Given the description of an element on the screen output the (x, y) to click on. 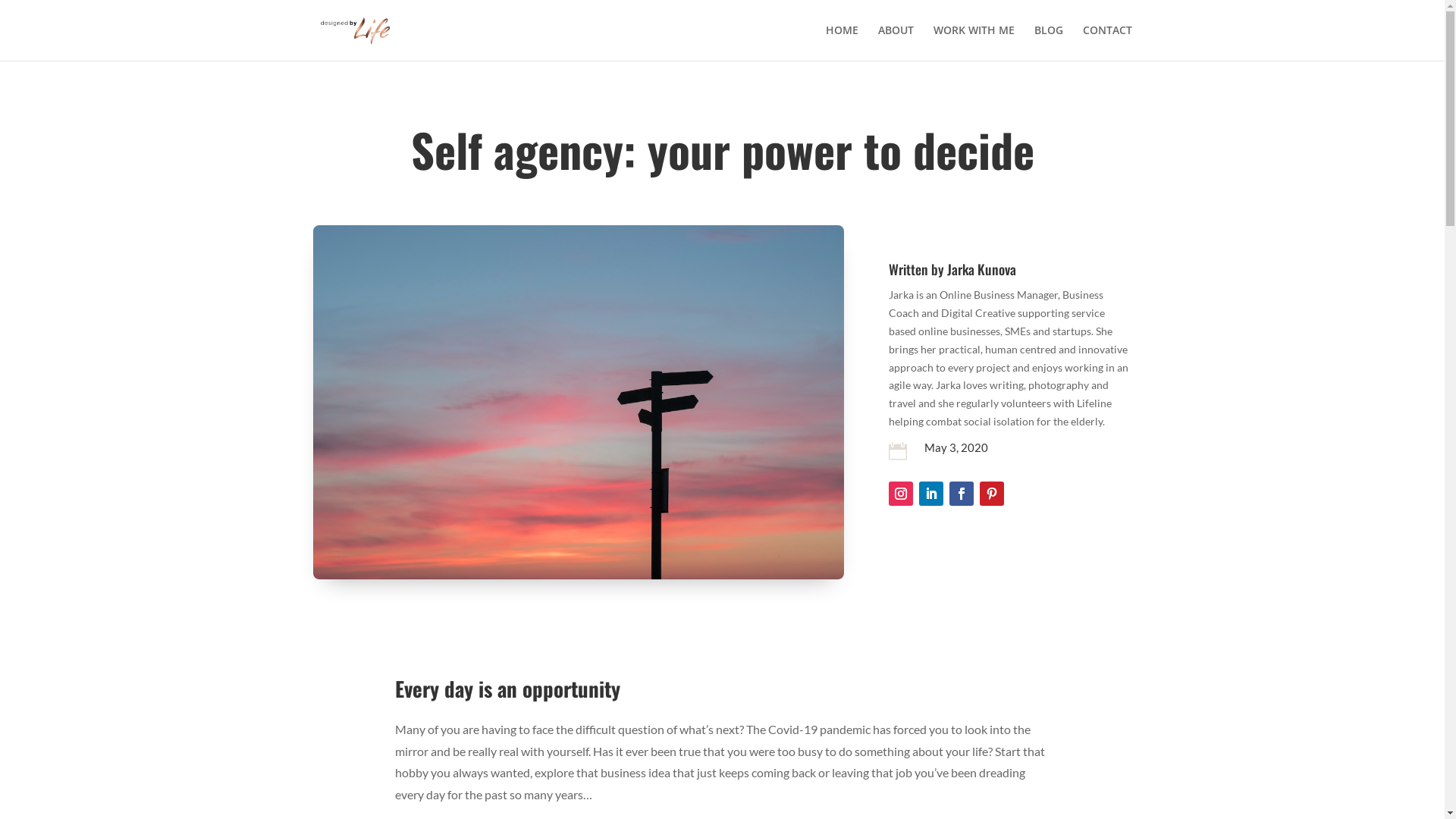
Follow on Instagram Element type: hover (900, 493)
decisions Element type: hover (577, 402)
ABOUT Element type: text (895, 42)
BLOG Element type: text (1048, 42)
Jarka Kunova Element type: text (981, 269)
WORK WITH ME Element type: text (972, 42)
CONTACT Element type: text (1107, 42)
HOME Element type: text (841, 42)
Follow on Pinterest Element type: hover (991, 493)
Follow on LinkedIn Element type: hover (931, 493)
Follow on Facebook Element type: hover (961, 493)
